Given the description of an element on the screen output the (x, y) to click on. 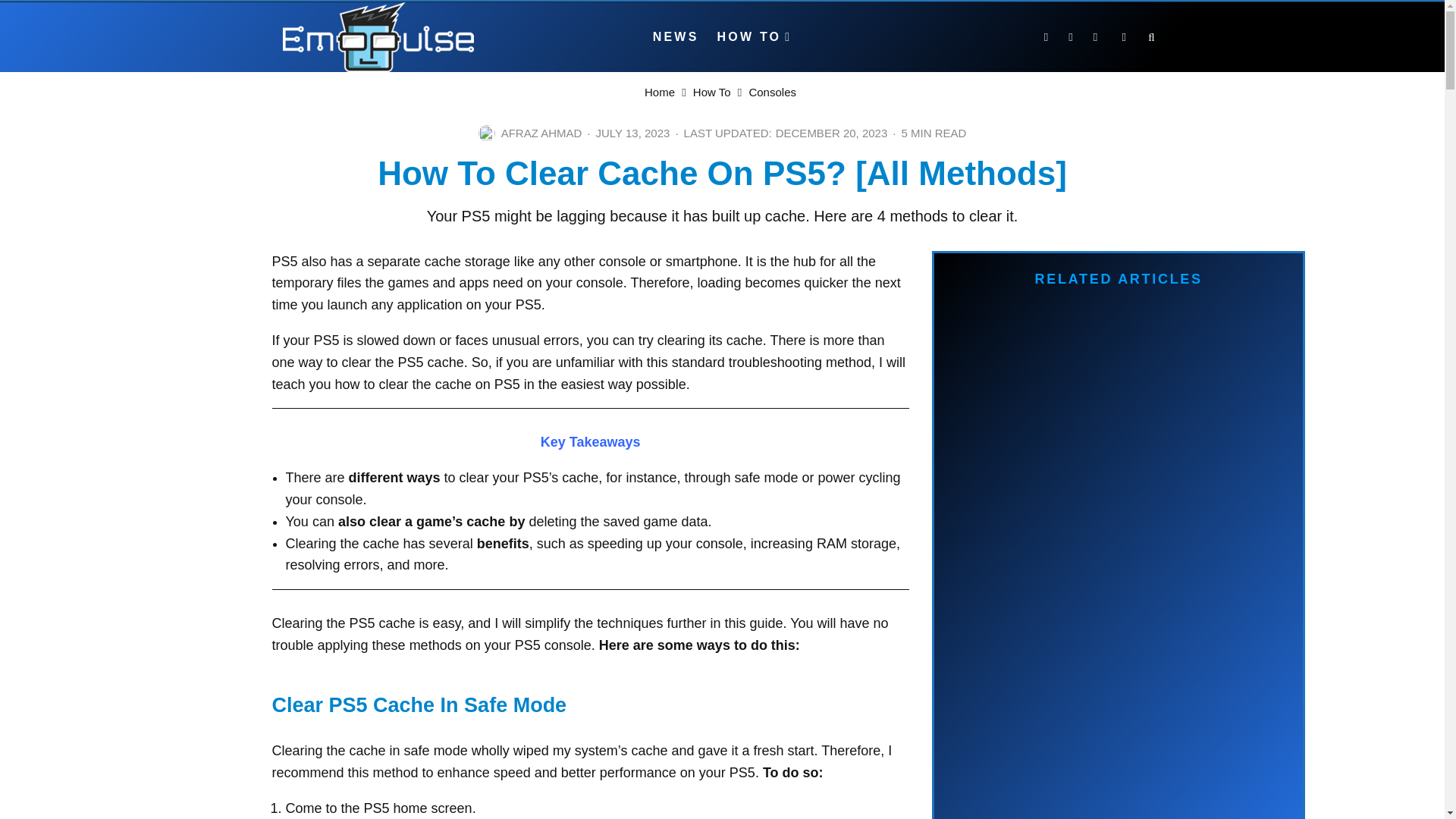
AFRAZ AHMAD (541, 132)
Home (660, 91)
Consoles (772, 91)
HOW TO (754, 37)
NEWS (675, 37)
How To (711, 91)
